Given the description of an element on the screen output the (x, y) to click on. 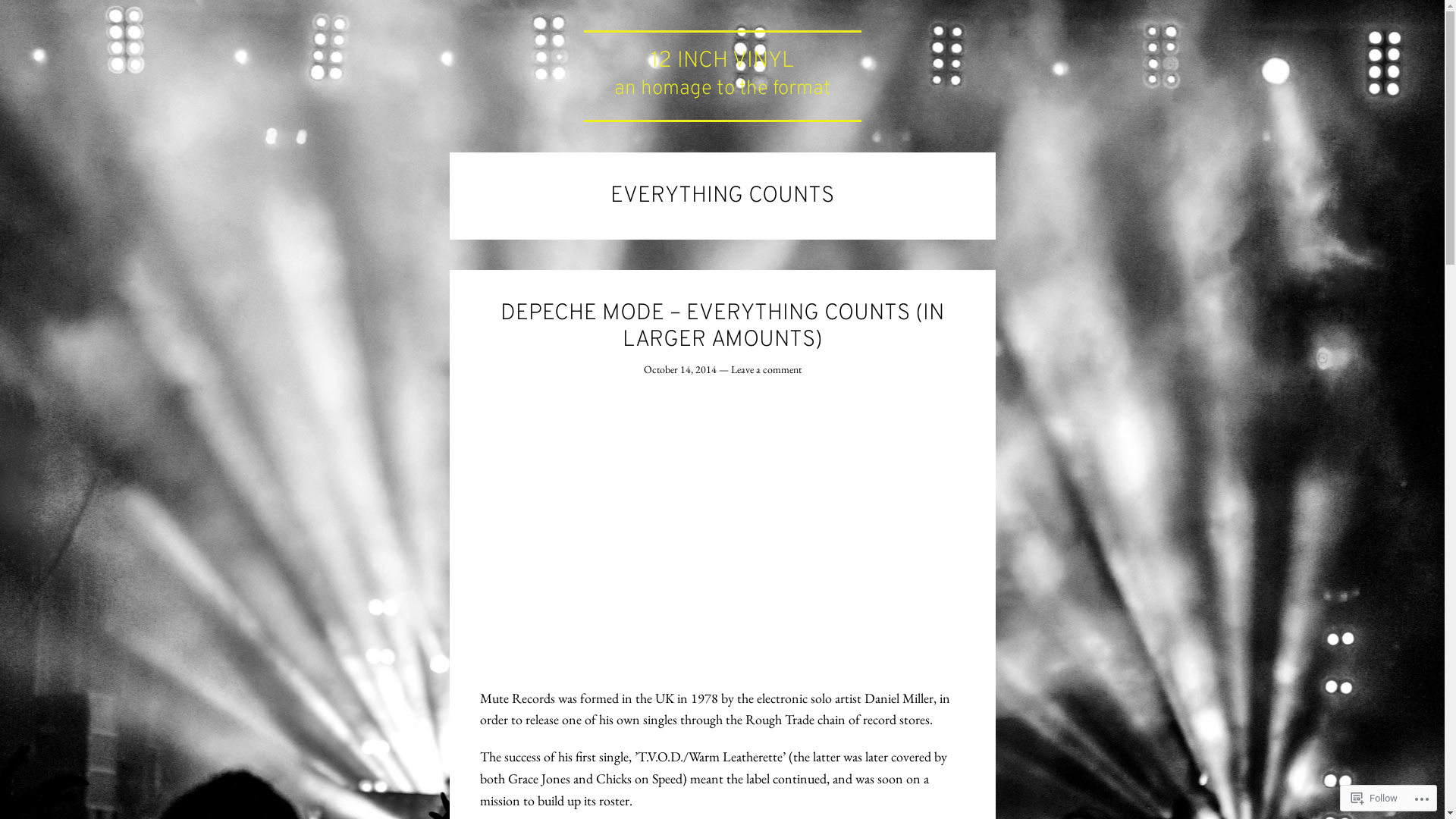
Follow Element type: text (1374, 797)
12 INCH VINYL Element type: text (721, 61)
Leave a comment Element type: text (766, 369)
October 14, 2014 Element type: text (679, 369)
